Given the description of an element on the screen output the (x, y) to click on. 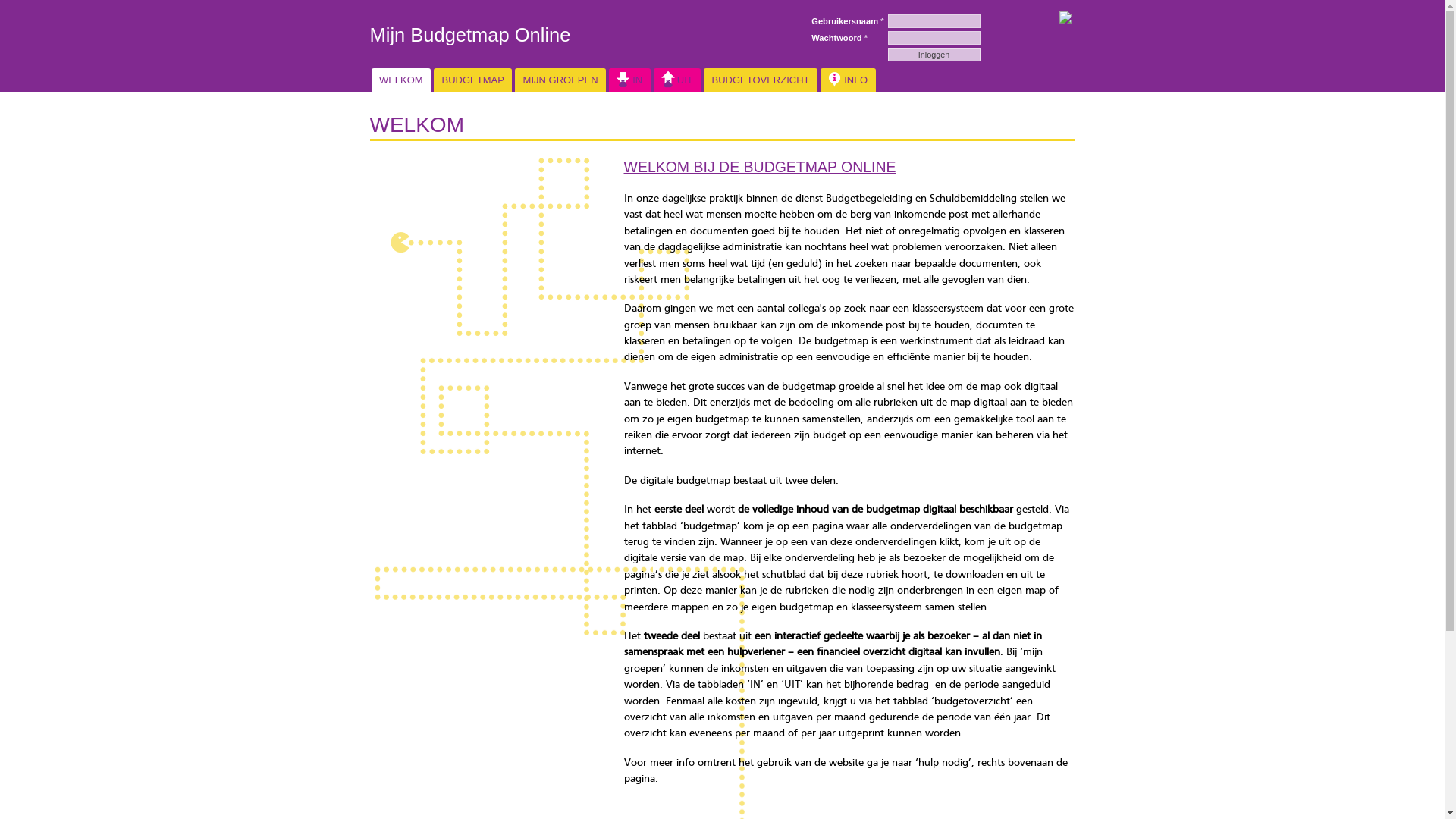
Mijn Budgetmap Online Element type: text (470, 34)
MIJN GROEPEN Element type: text (559, 79)
INFO Element type: text (847, 79)
BUDGETOVERZICHT Element type: text (760, 79)
Inloggen Element type: text (933, 54)
Overslaan en naar de inhoud gaan Element type: text (696, 1)
IN Element type: text (629, 79)
UIT Element type: text (677, 79)
BUDGETMAP Element type: text (472, 79)
WELKOM Element type: text (401, 79)
